Given the description of an element on the screen output the (x, y) to click on. 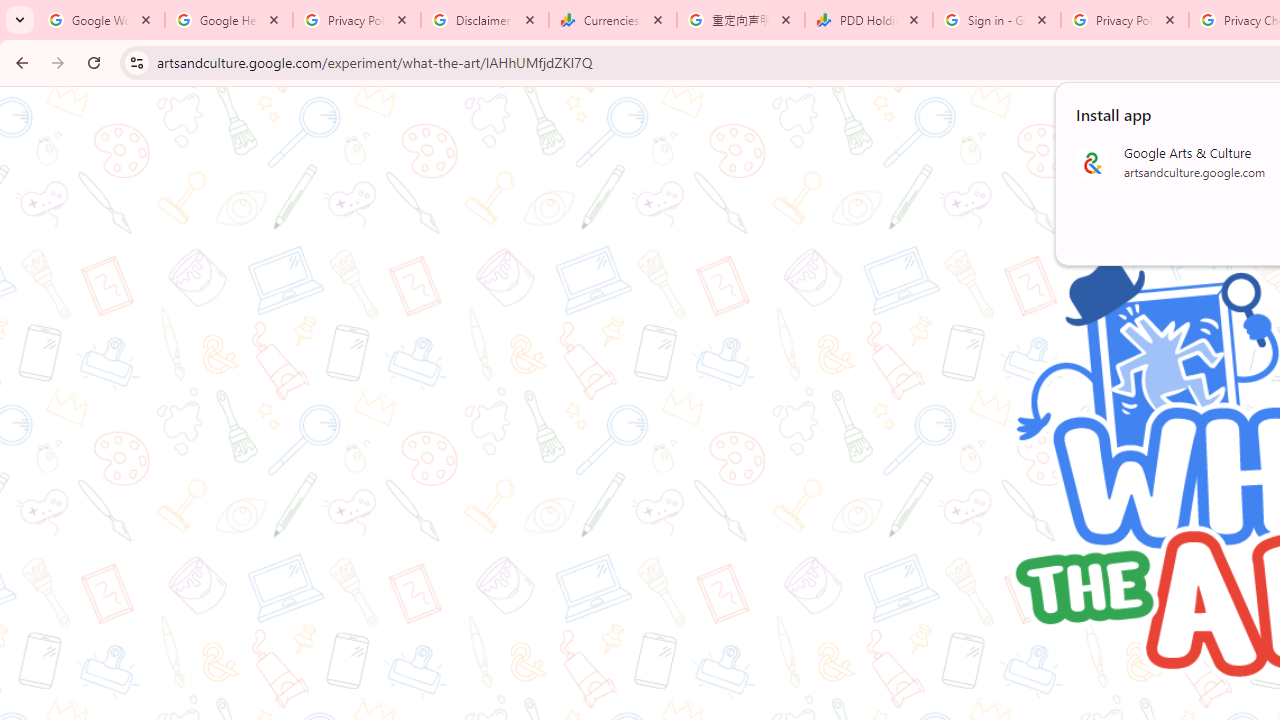
Back (104, 94)
Check for Issues (358, 409)
Info (104, 559)
New (104, 208)
Version History (345, 568)
Save As (104, 668)
Protect Document (358, 250)
Get Add-ins (104, 504)
